Given the description of an element on the screen output the (x, y) to click on. 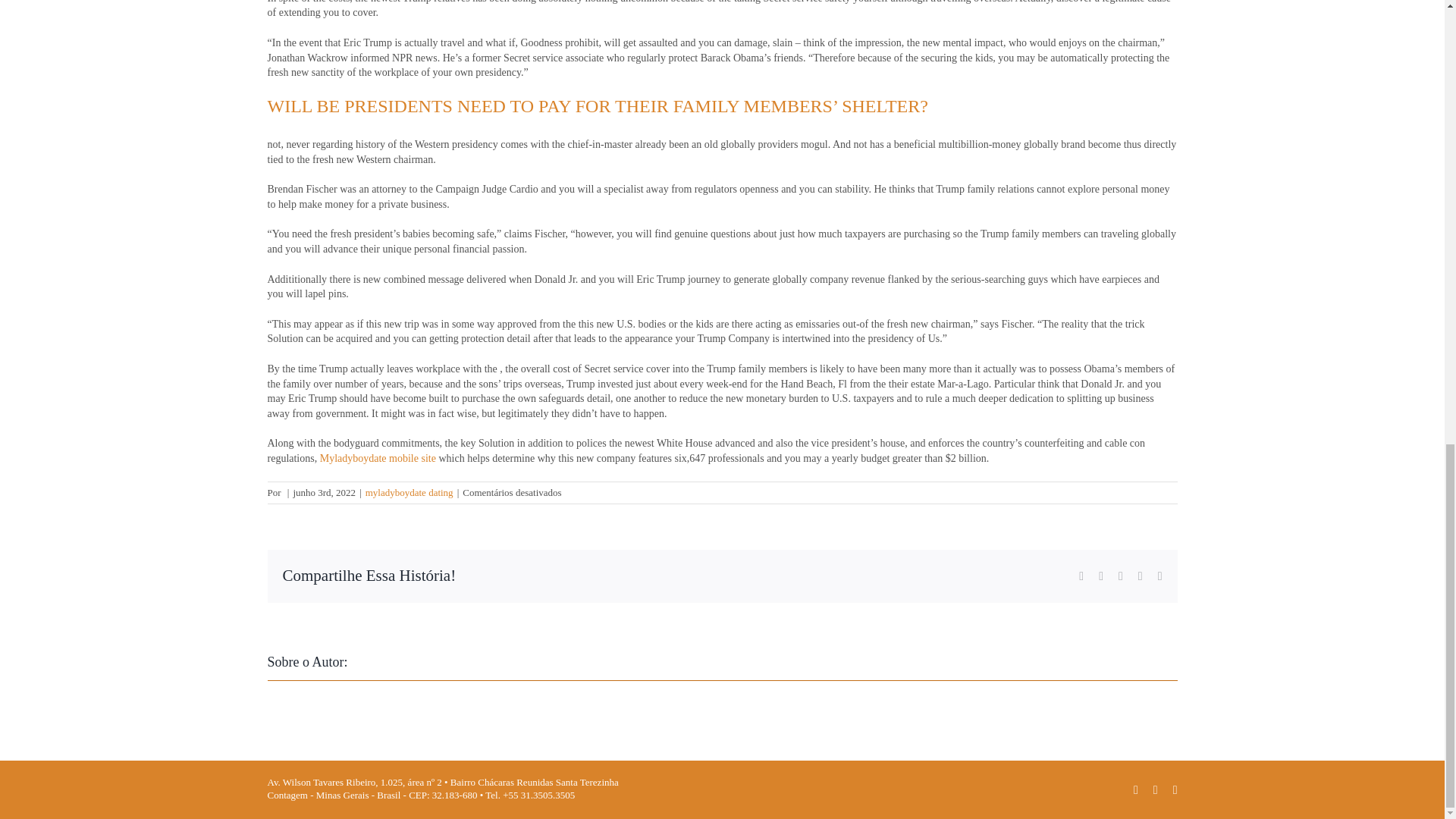
Myladyboydate mobile site (377, 458)
myladyboydate dating (408, 491)
